Given the description of an element on the screen output the (x, y) to click on. 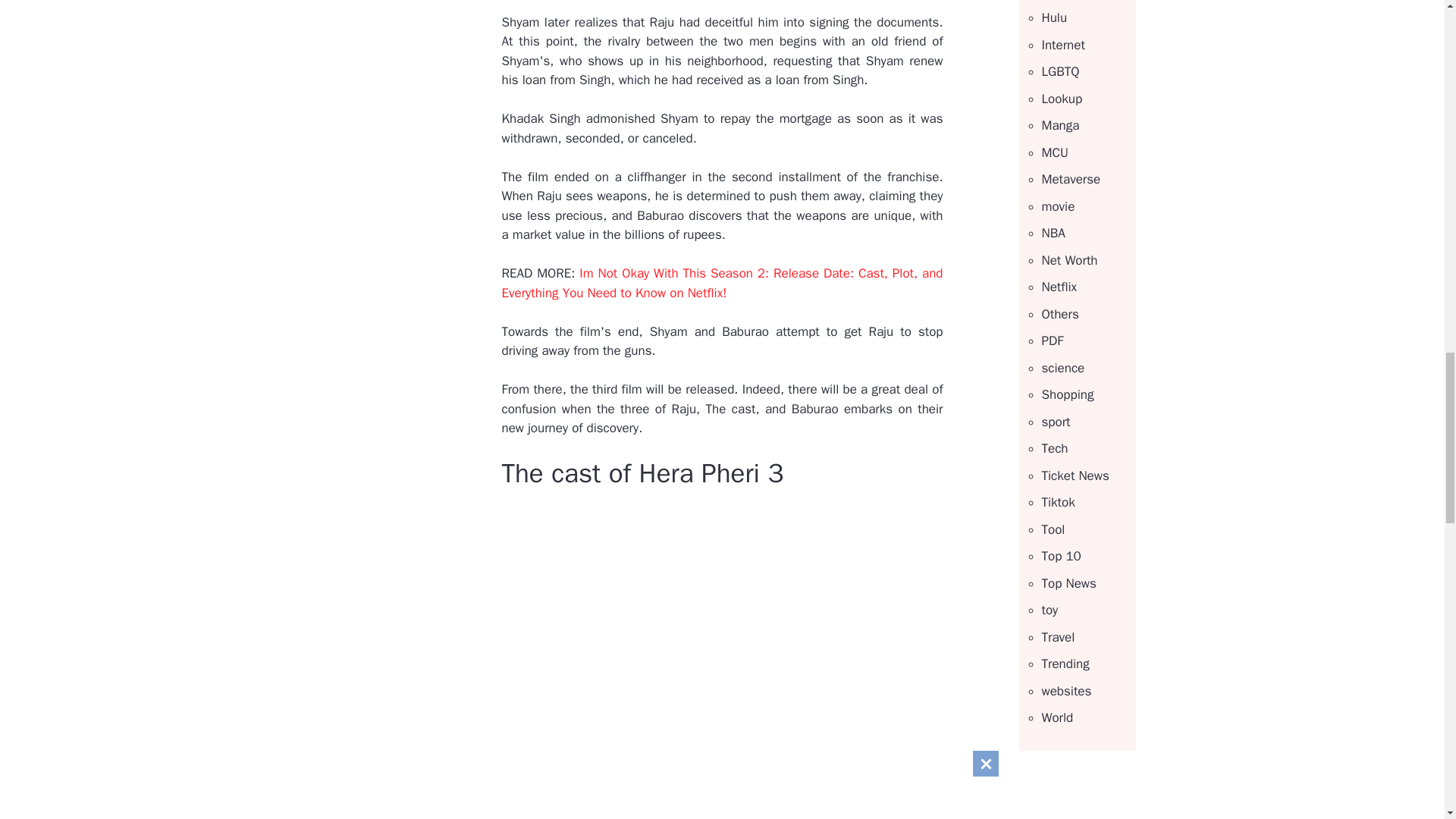
Paresh Rawal (578, 781)
